Given the description of an element on the screen output the (x, y) to click on. 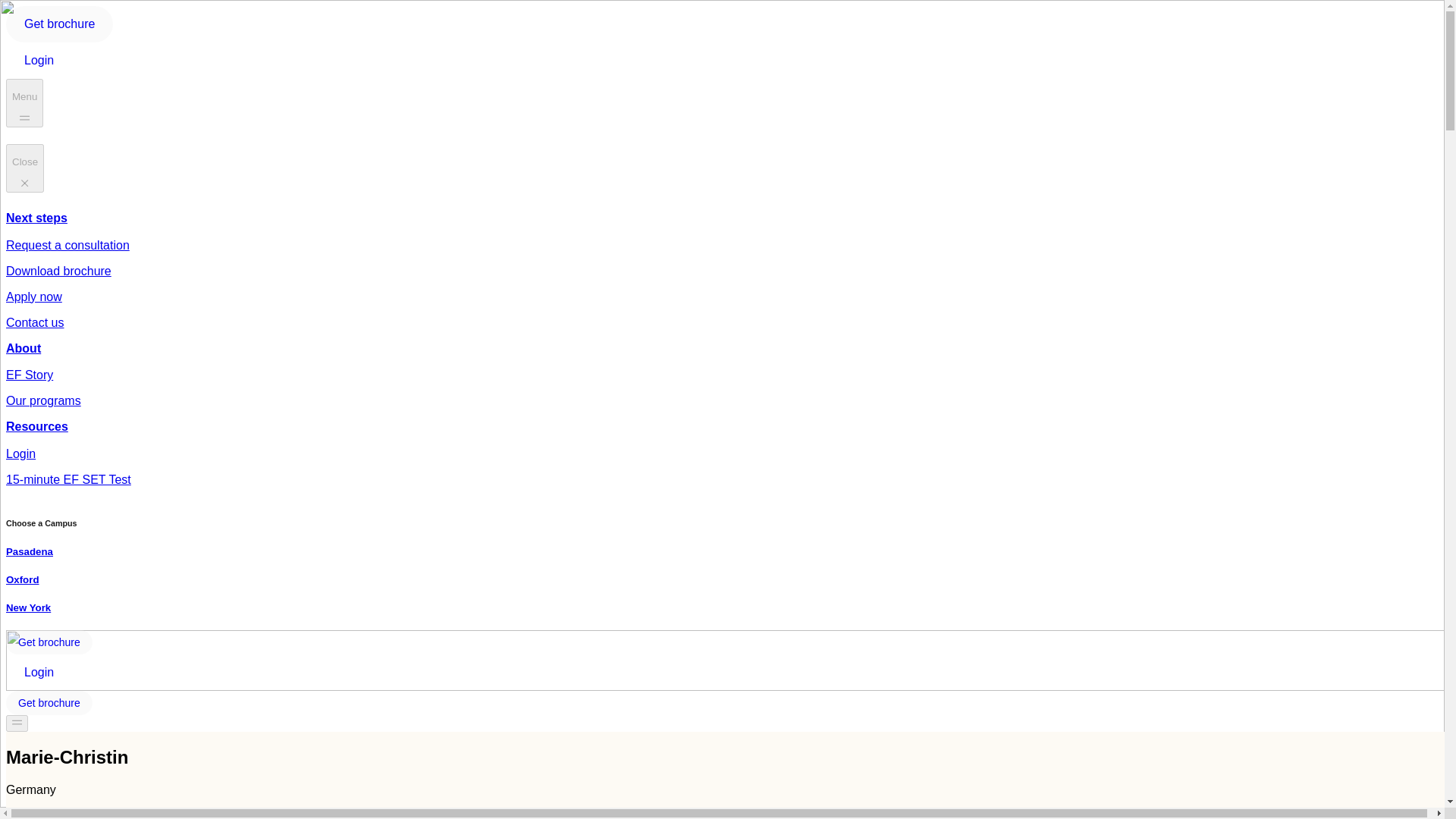
Get brochure (59, 23)
Login (38, 672)
Get brochure (49, 702)
Login (38, 60)
Login (38, 671)
Get brochure (49, 641)
Login (38, 60)
